Given the description of an element on the screen output the (x, y) to click on. 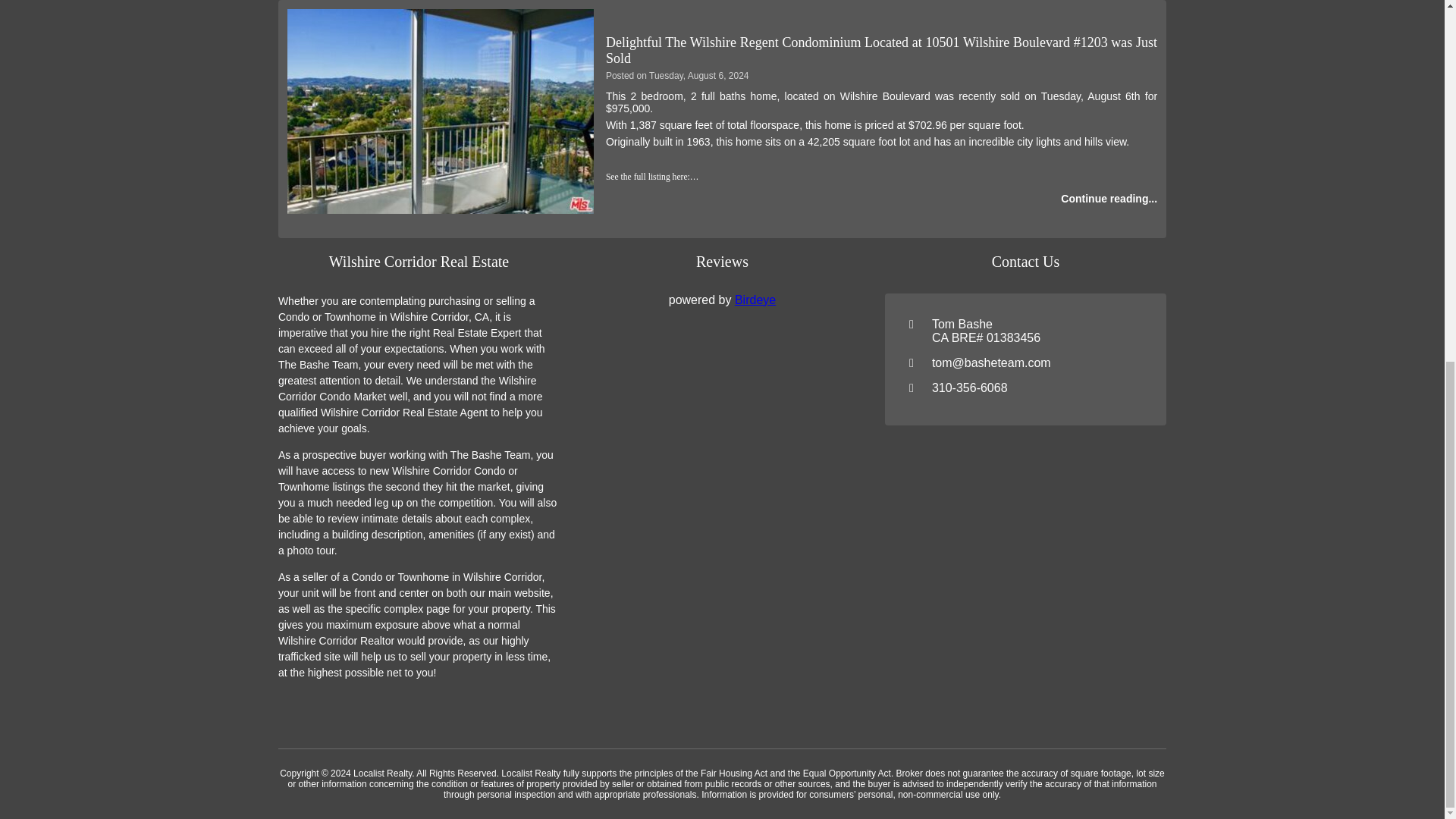
310-356-6068 (969, 387)
Continue reading... (1109, 198)
Birdeye (755, 299)
